Given the description of an element on the screen output the (x, y) to click on. 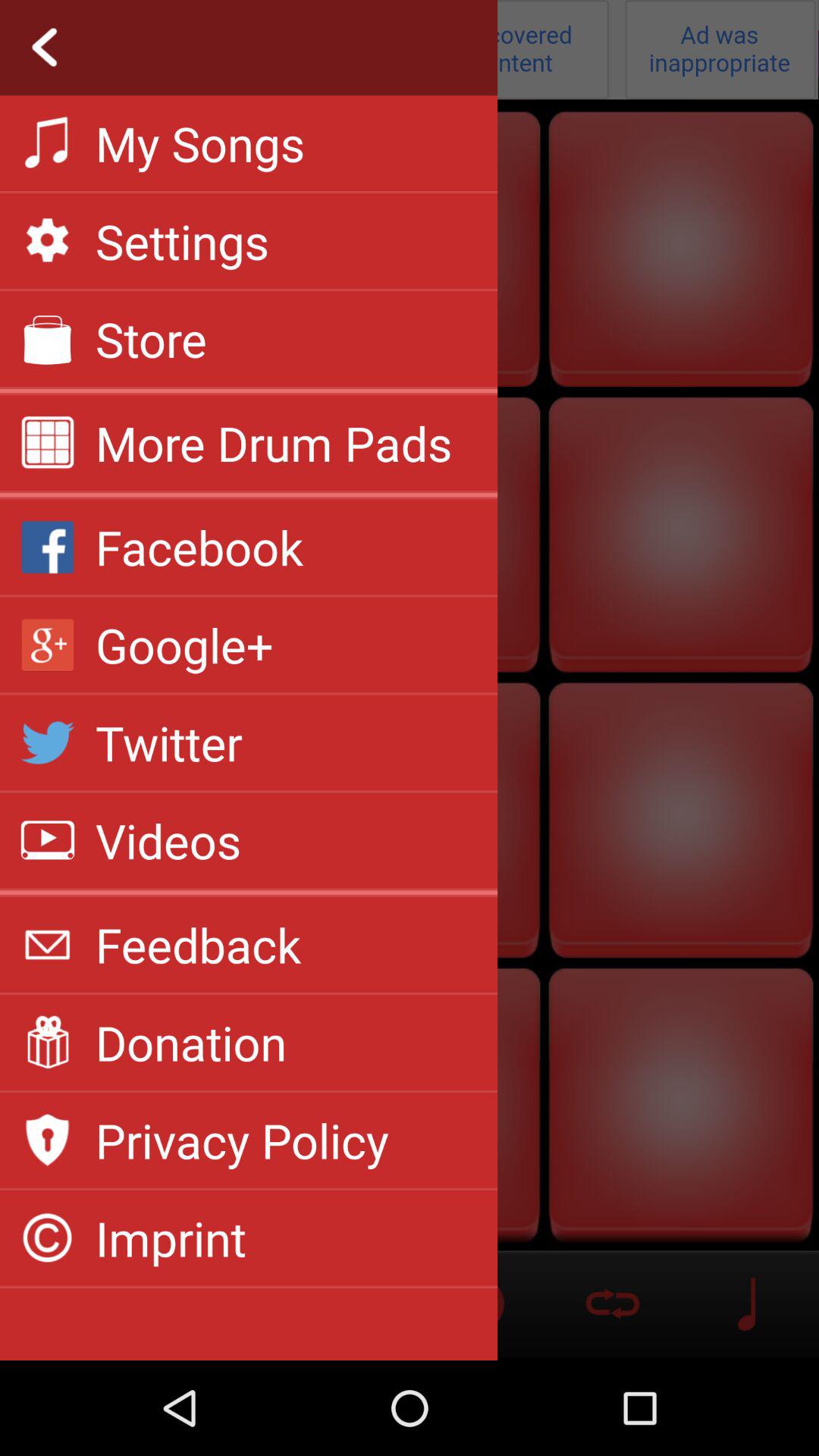
click the item below facebook (184, 644)
